Given the description of an element on the screen output the (x, y) to click on. 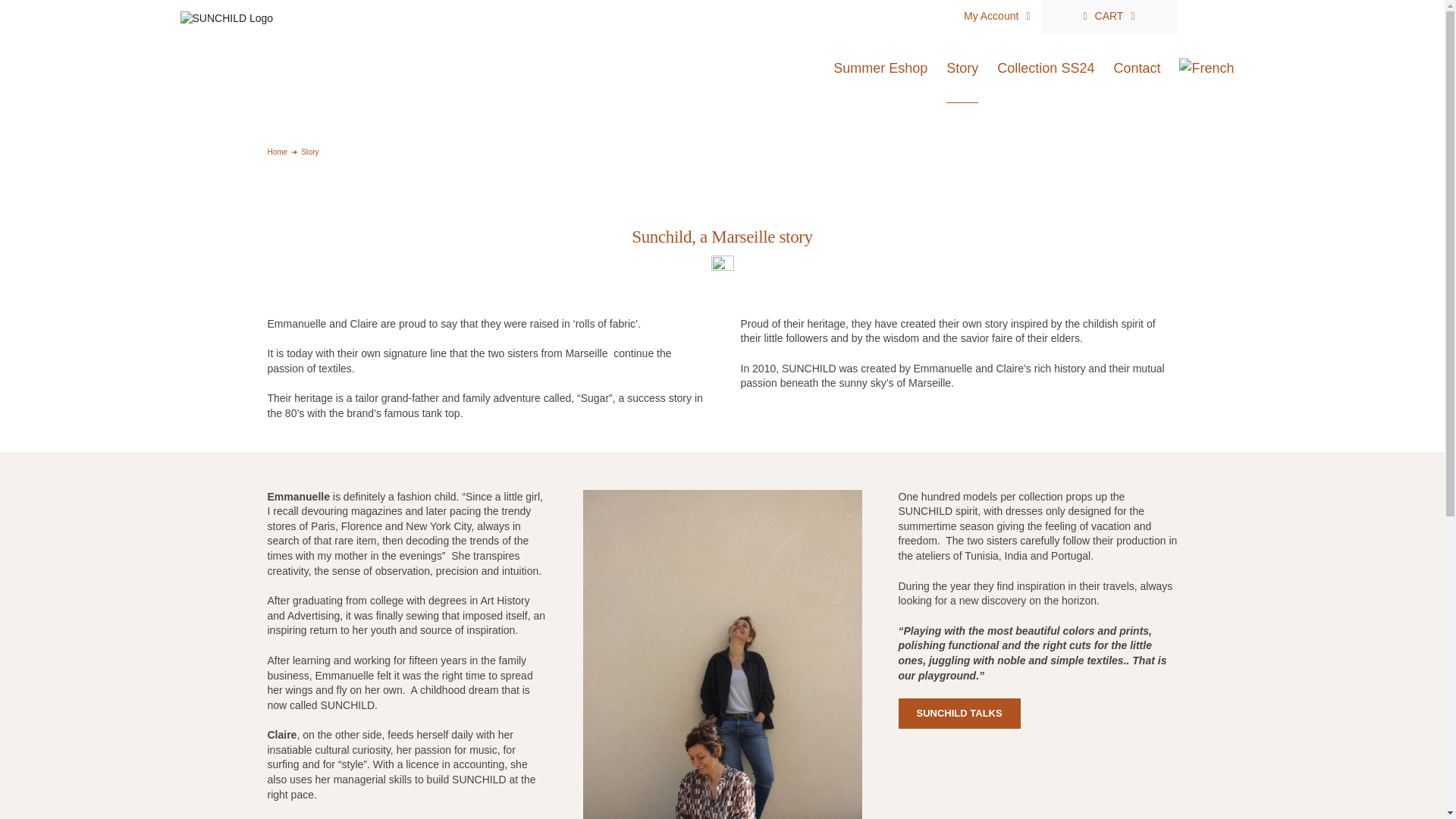
My Account (997, 16)
SUNCHILD TALKS (959, 713)
feuille-cognac (722, 266)
Summer Eshop (879, 68)
Log In (1095, 145)
CART (1108, 16)
Collection SS24 (1045, 68)
Home (276, 151)
